Given the description of an element on the screen output the (x, y) to click on. 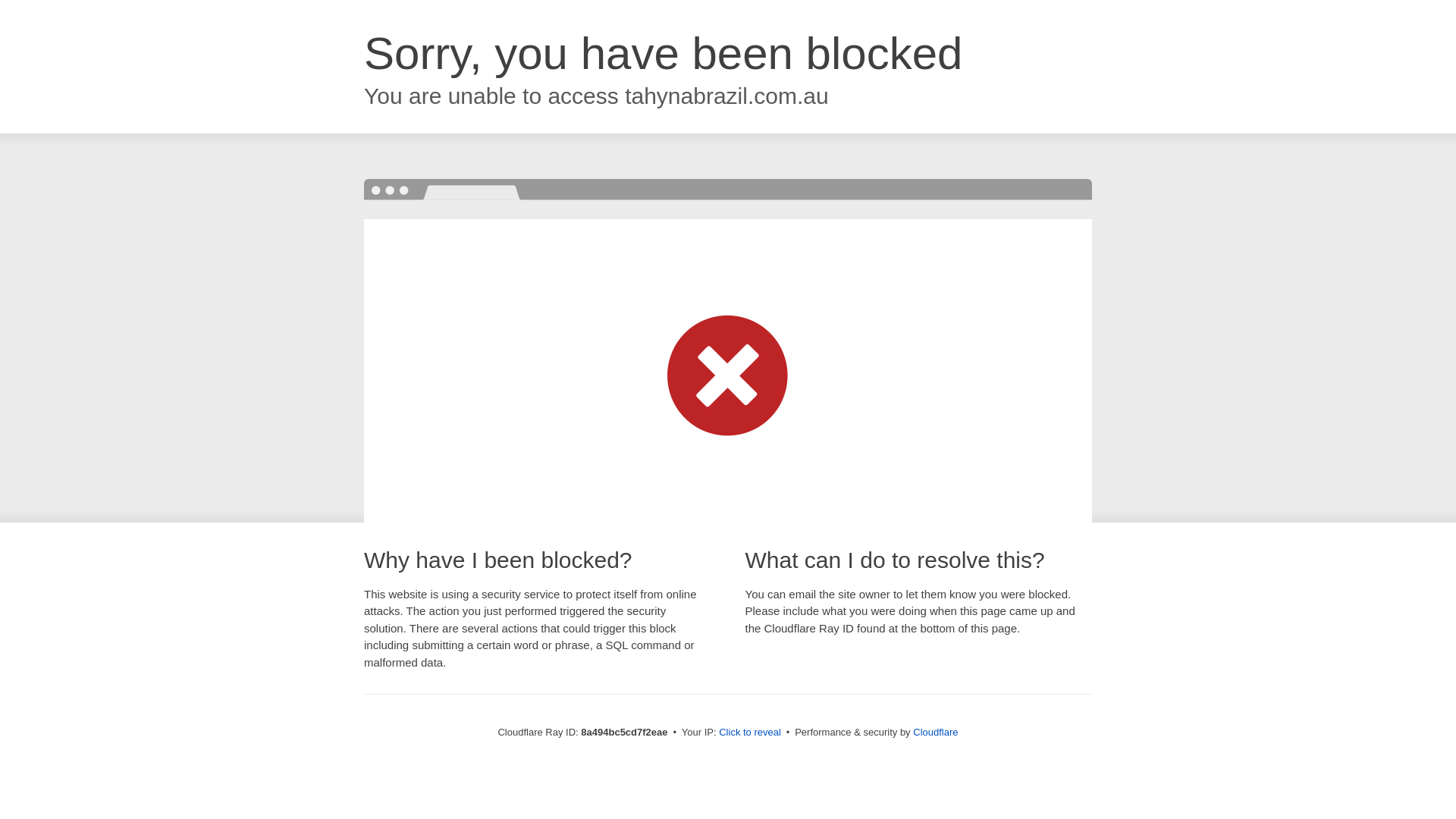
Click to reveal (749, 732)
Cloudflare (935, 731)
